Given the description of an element on the screen output the (x, y) to click on. 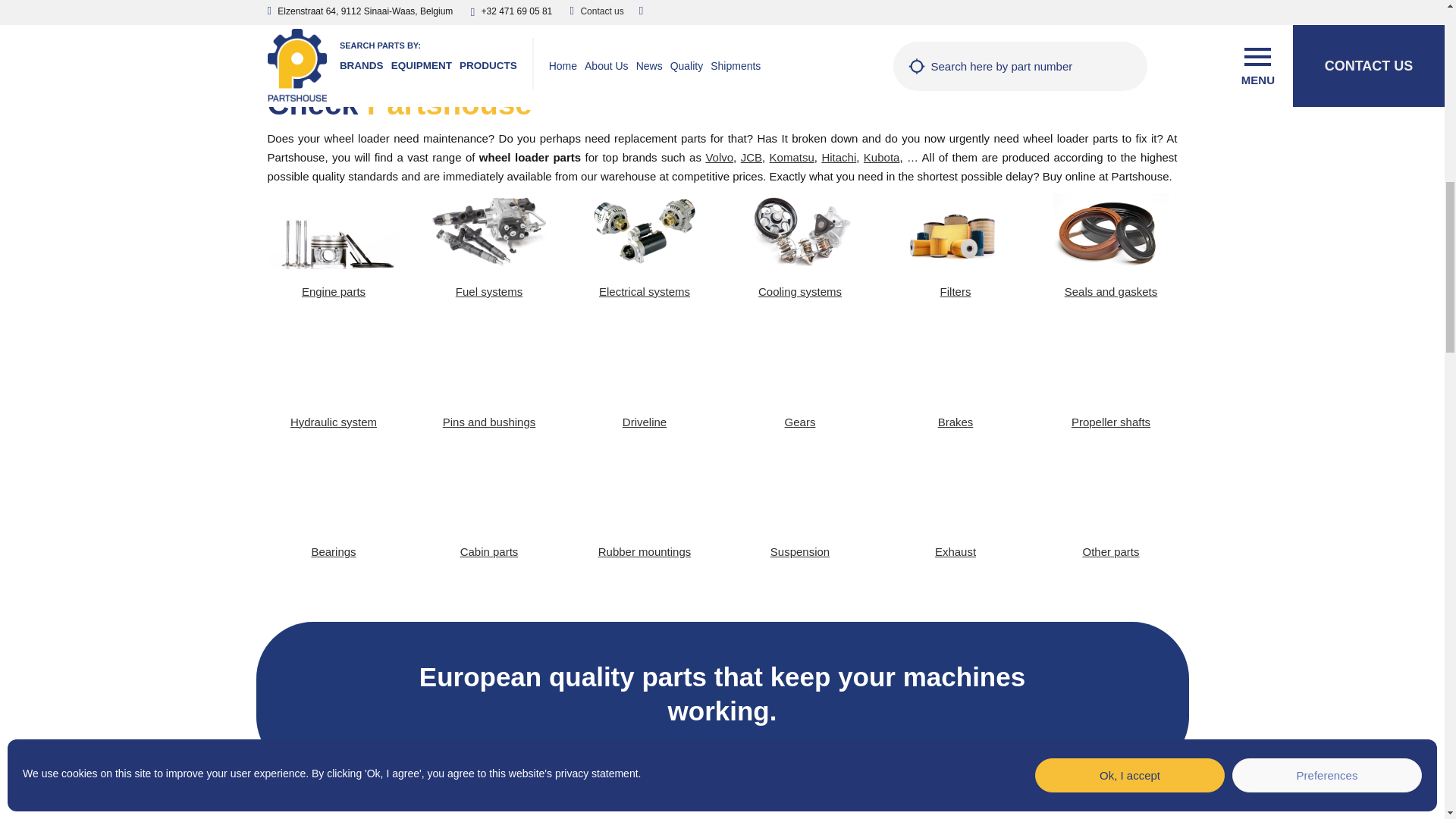
JCB parts (751, 156)
Buy Volvo parts (718, 156)
Kubota parts order online (881, 156)
Komatsu parts online (791, 156)
Hitachi parts (838, 156)
